Given the description of an element on the screen output the (x, y) to click on. 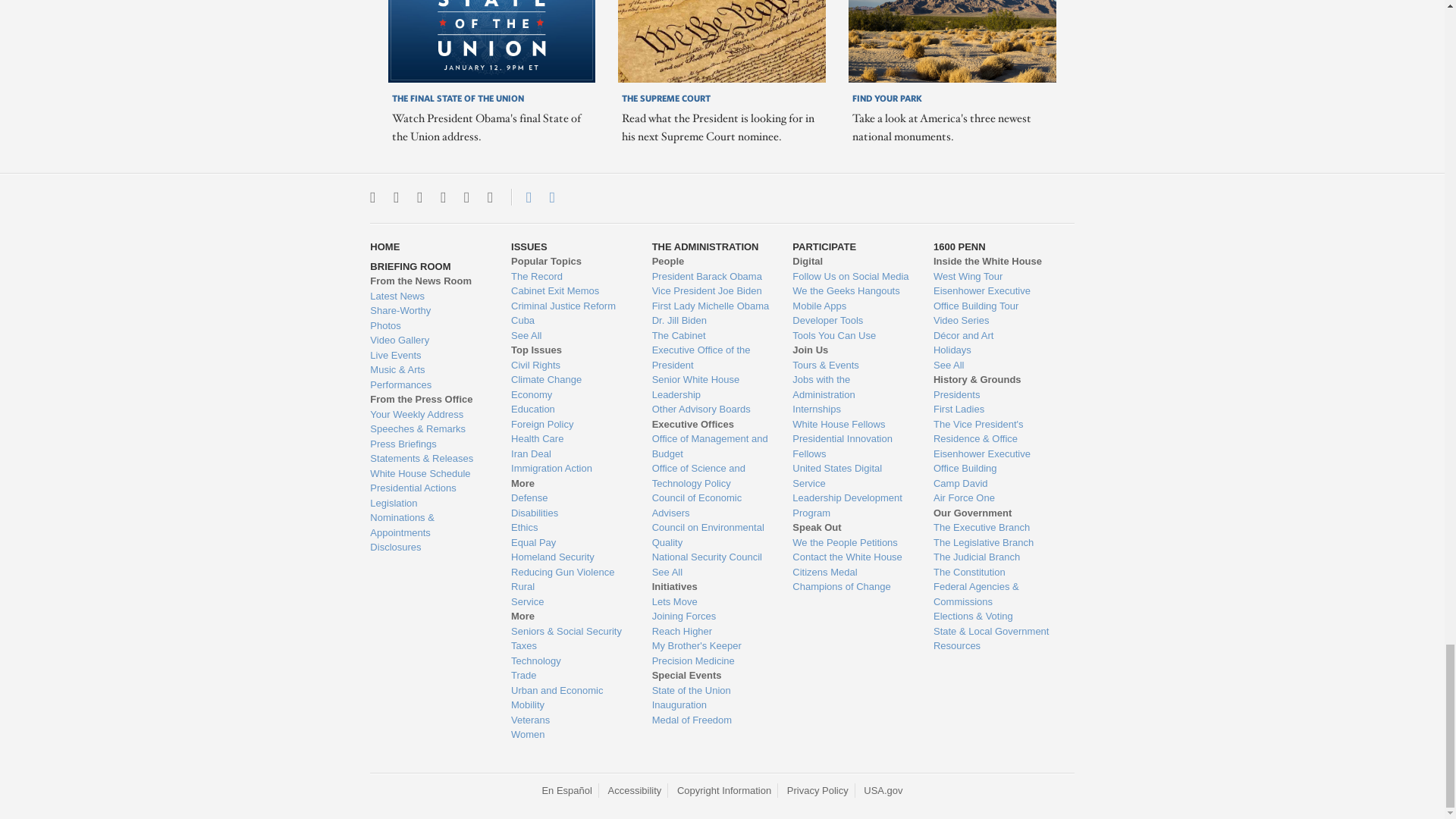
See the Whitehouse on Instagram. (395, 197)
Follow the Whitehouse on Twitter. (372, 197)
Like the Whitehouse on Facebook. (419, 197)
More ways to engage with the Whitehouse. (490, 197)
Contact the Whitehouse. (521, 197)
Visit The Whitehouse Channel on Youtube. (466, 197)
